Given the description of an element on the screen output the (x, y) to click on. 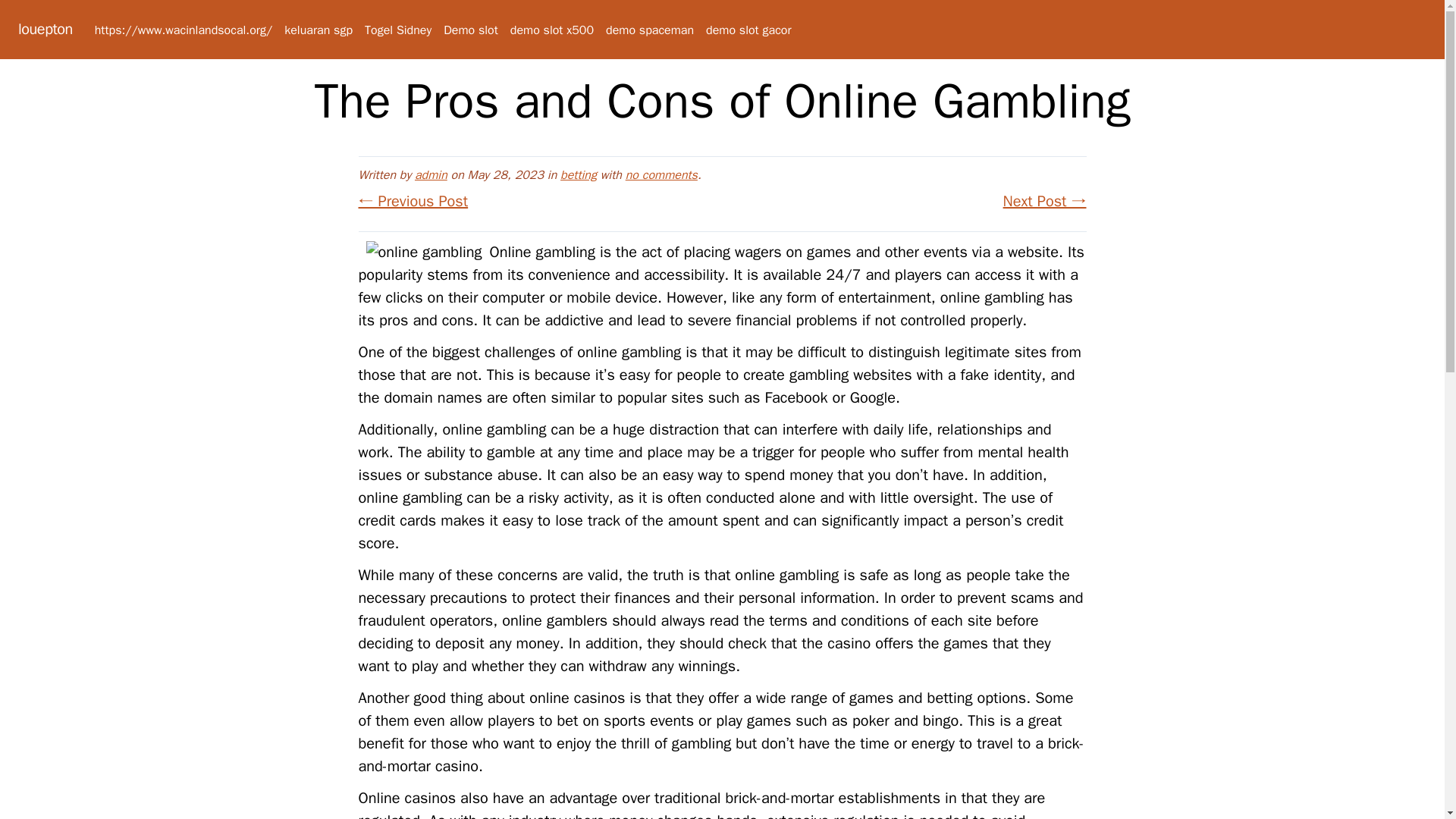
demo spaceman (649, 30)
Demo slot (470, 30)
no comments (661, 174)
demo slot x500 (552, 30)
demo slot gacor (748, 30)
keluaran sgp (317, 30)
admin (430, 174)
betting (578, 174)
no comments (661, 174)
louepton (44, 29)
